Given the description of an element on the screen output the (x, y) to click on. 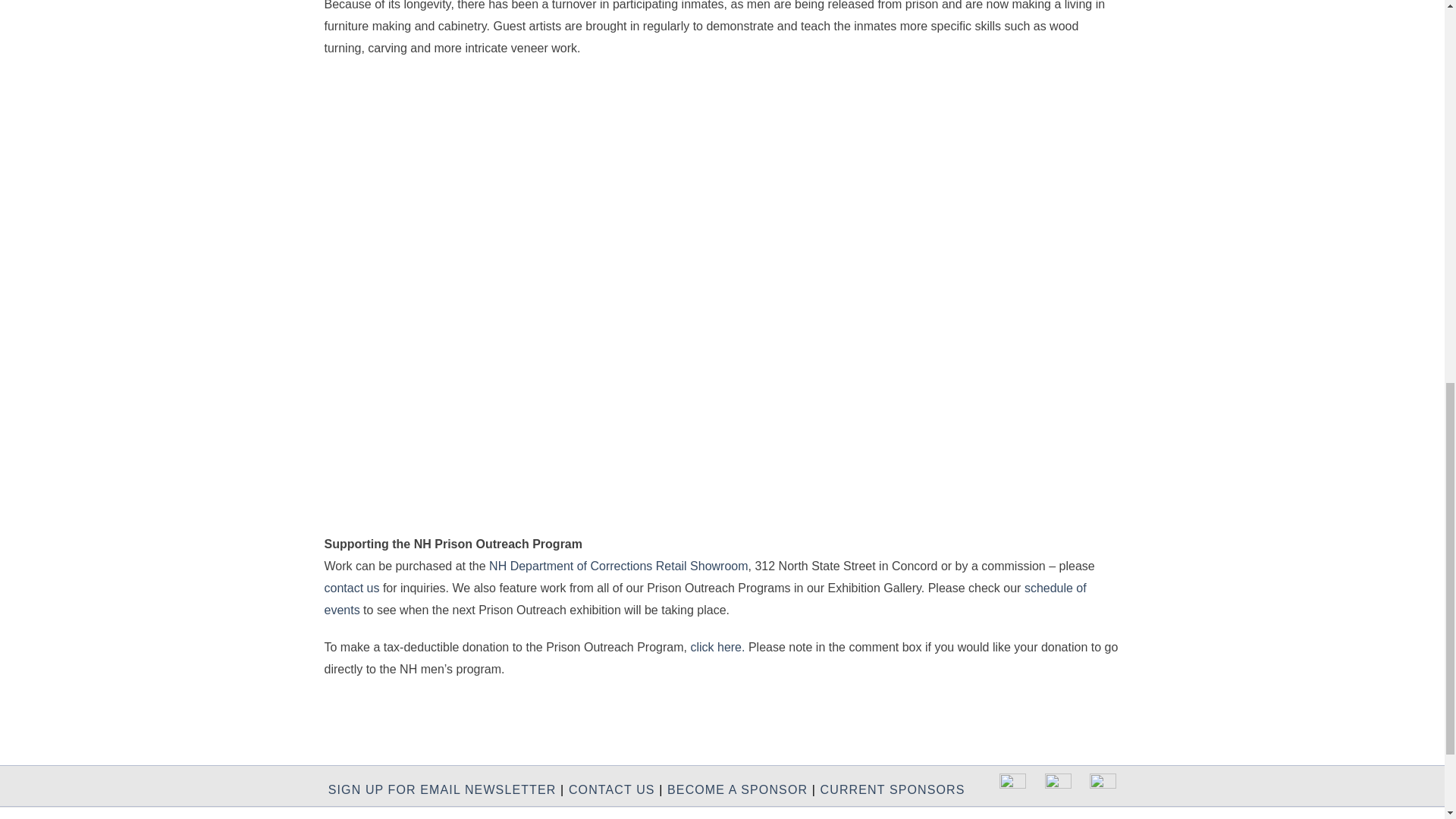
schedule of events (705, 598)
CONTACT US (612, 788)
contact us (352, 587)
NH Department of Corrections Retail Showroom (618, 565)
click here. (717, 646)
SIGN UP FOR EMAIL NEWSLETTER (442, 788)
BECOME A SPONSOR (737, 788)
